Given the description of an element on the screen output the (x, y) to click on. 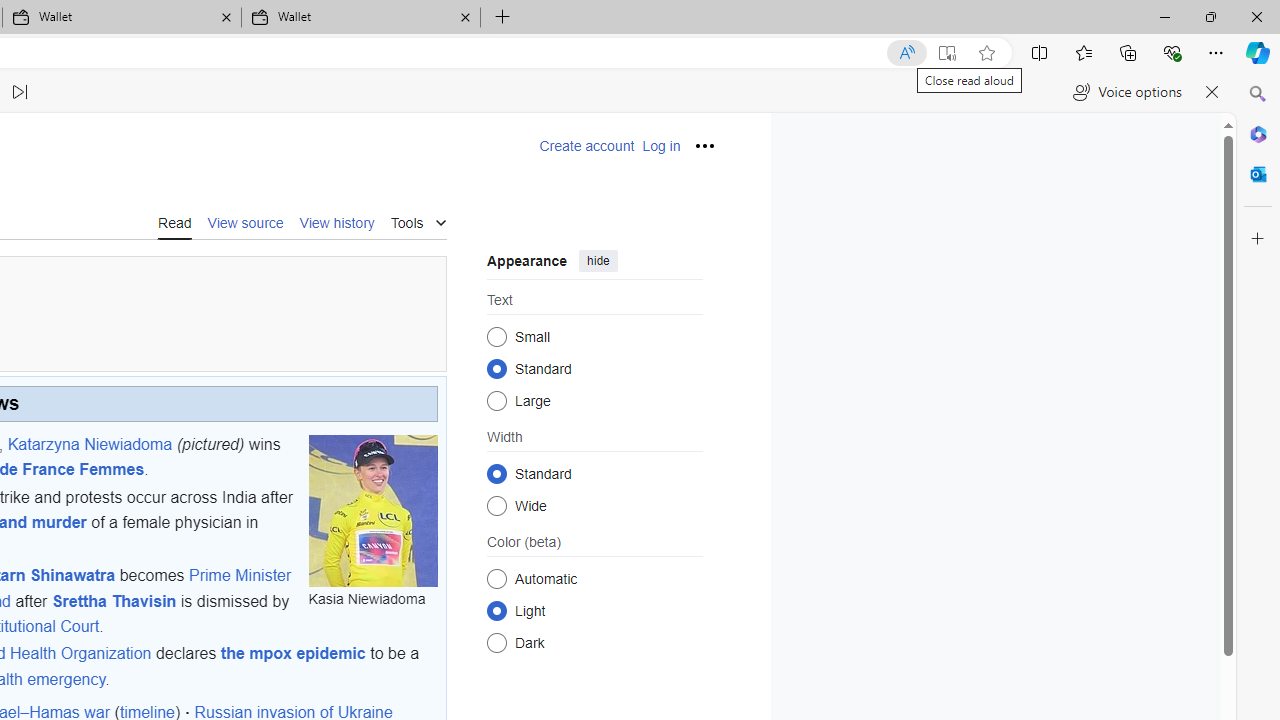
Class: mw-list-item mw-list-item-js (594, 610)
Read (174, 222)
Kasia Niewiadoma (372, 510)
Create account (586, 146)
Read (174, 221)
Automatic (496, 578)
Dark (496, 642)
View history (337, 222)
